Given the description of an element on the screen output the (x, y) to click on. 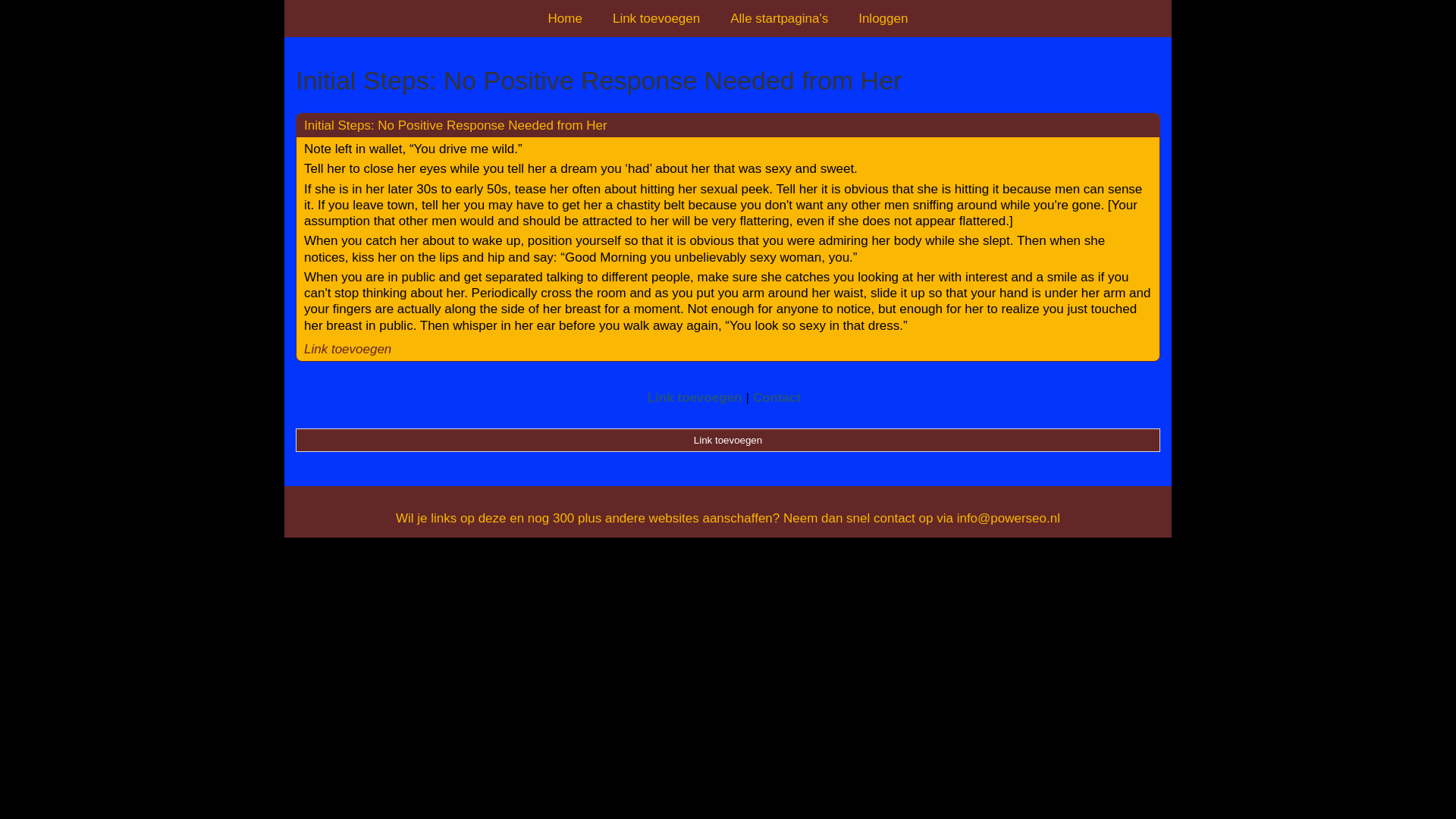
Contact (776, 397)
Inloggen (883, 18)
Initial Steps: No Positive Response Needed from Her (727, 80)
Link toevoegen (347, 349)
Link toevoegen (655, 18)
Alle startpagina's (778, 18)
Home (564, 18)
Link toevoegen (727, 439)
Link toevoegen (694, 397)
Initial Steps: No Positive Response Needed from Her (455, 124)
